Given the description of an element on the screen output the (x, y) to click on. 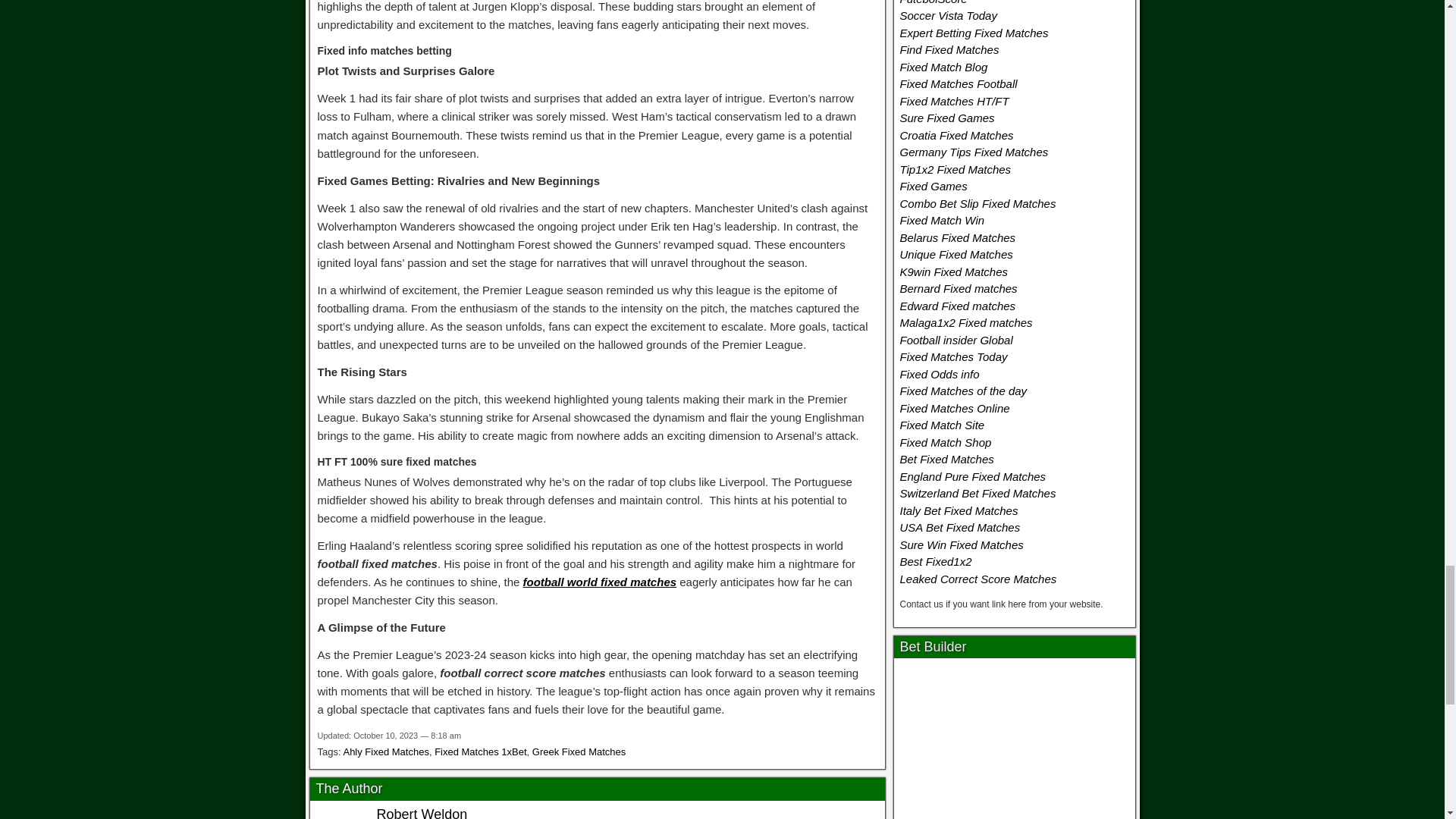
Ahly Fixed Matches (385, 751)
Robert Weldon (421, 812)
Bet Builder Bet365 Bookie (1014, 741)
football world fixed matches (599, 581)
Fixed Matches 1xBet (479, 751)
Greek Fixed Matches (579, 751)
